Given the description of an element on the screen output the (x, y) to click on. 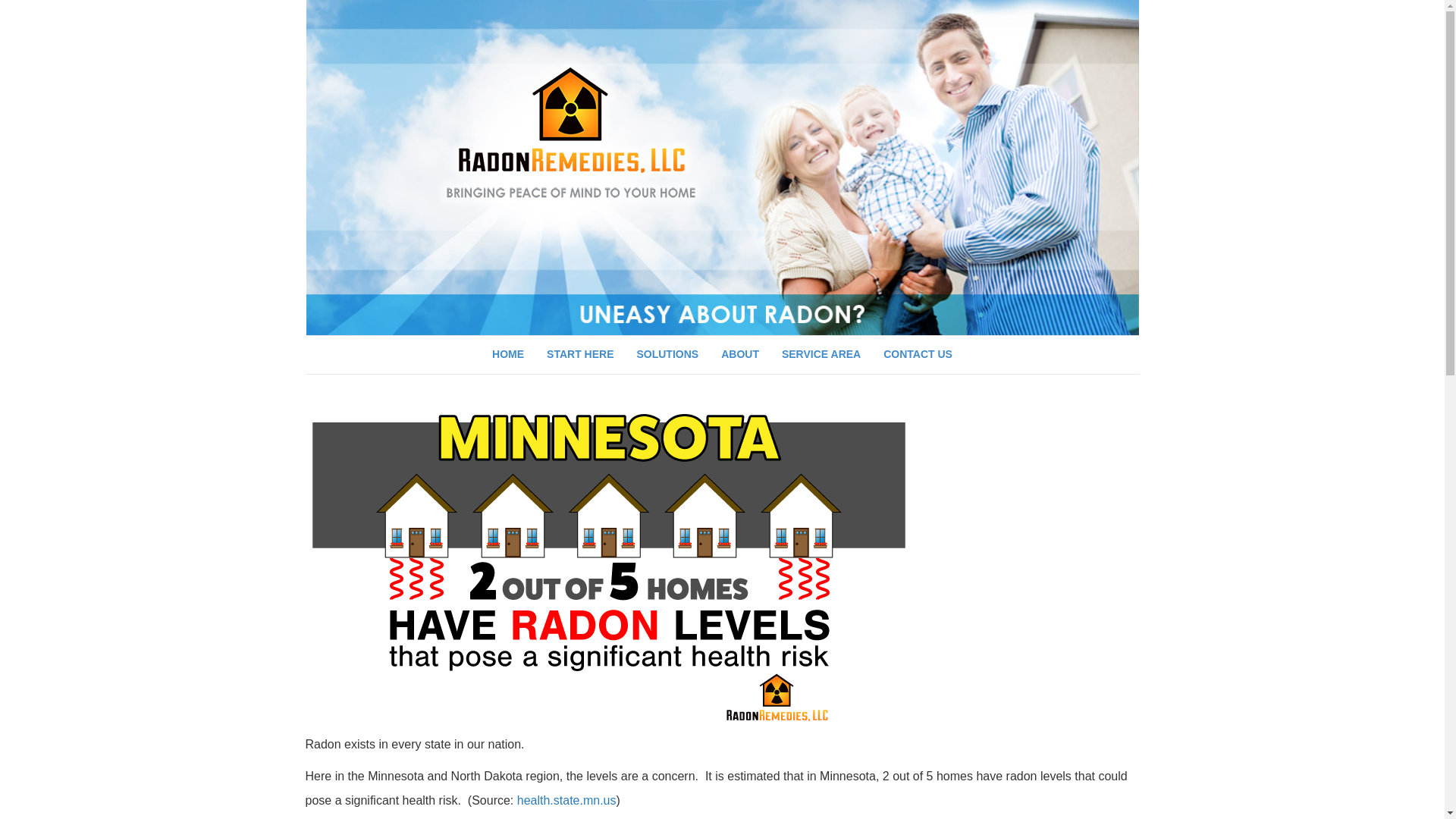
CONTACT US (917, 354)
START HERE (579, 354)
ABOUT (740, 354)
HOME (507, 354)
SOLUTIONS (667, 354)
SERVICE AREA (821, 354)
health.state.mn.us (565, 799)
